Given the description of an element on the screen output the (x, y) to click on. 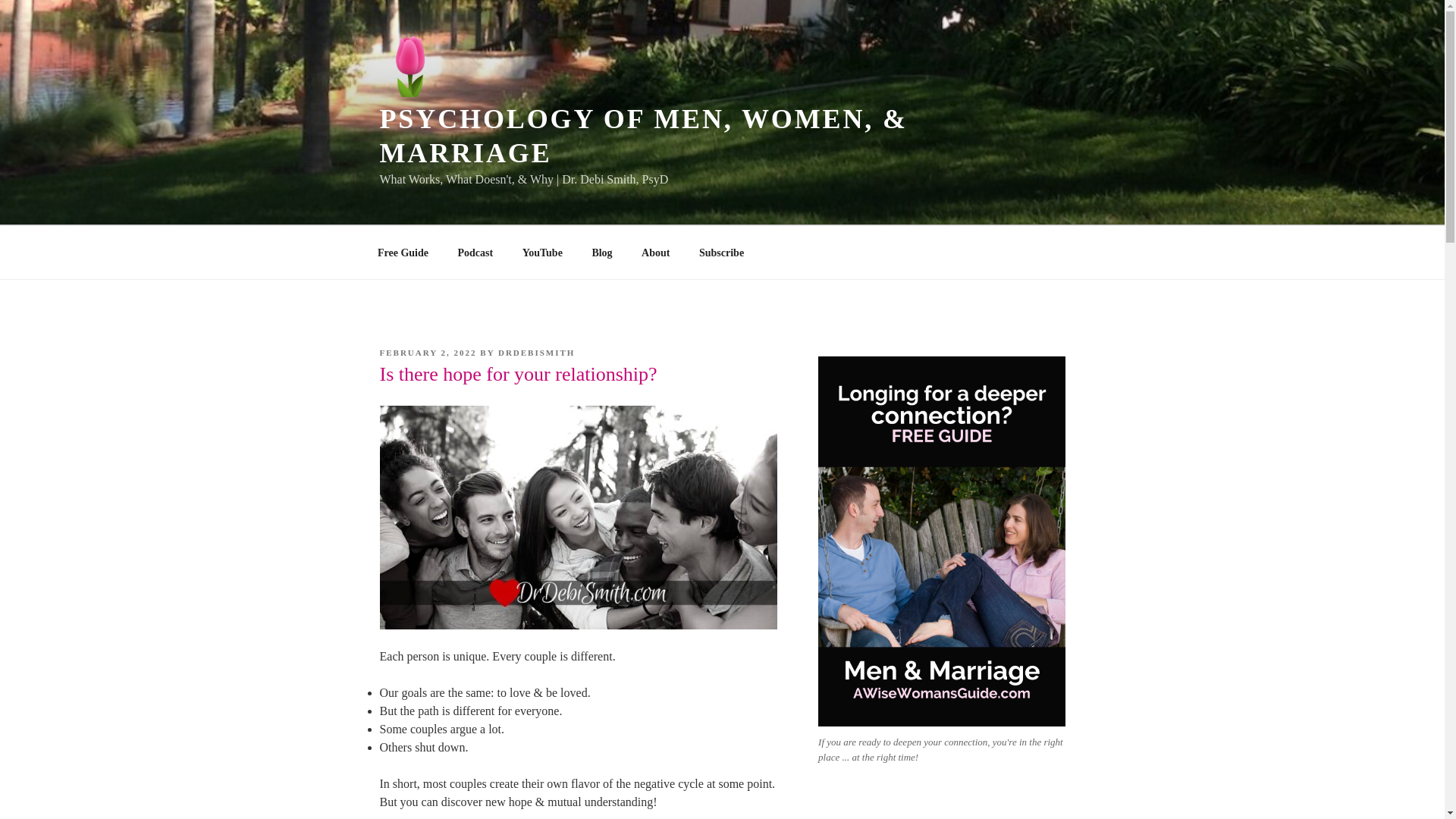
Free Guide (402, 252)
Blog (602, 252)
FEBRUARY 2, 2022 (427, 352)
Podcast (475, 252)
DRDEBISMITH (536, 352)
About (655, 252)
Subscribe (721, 252)
YouTube (541, 252)
